Given the description of an element on the screen output the (x, y) to click on. 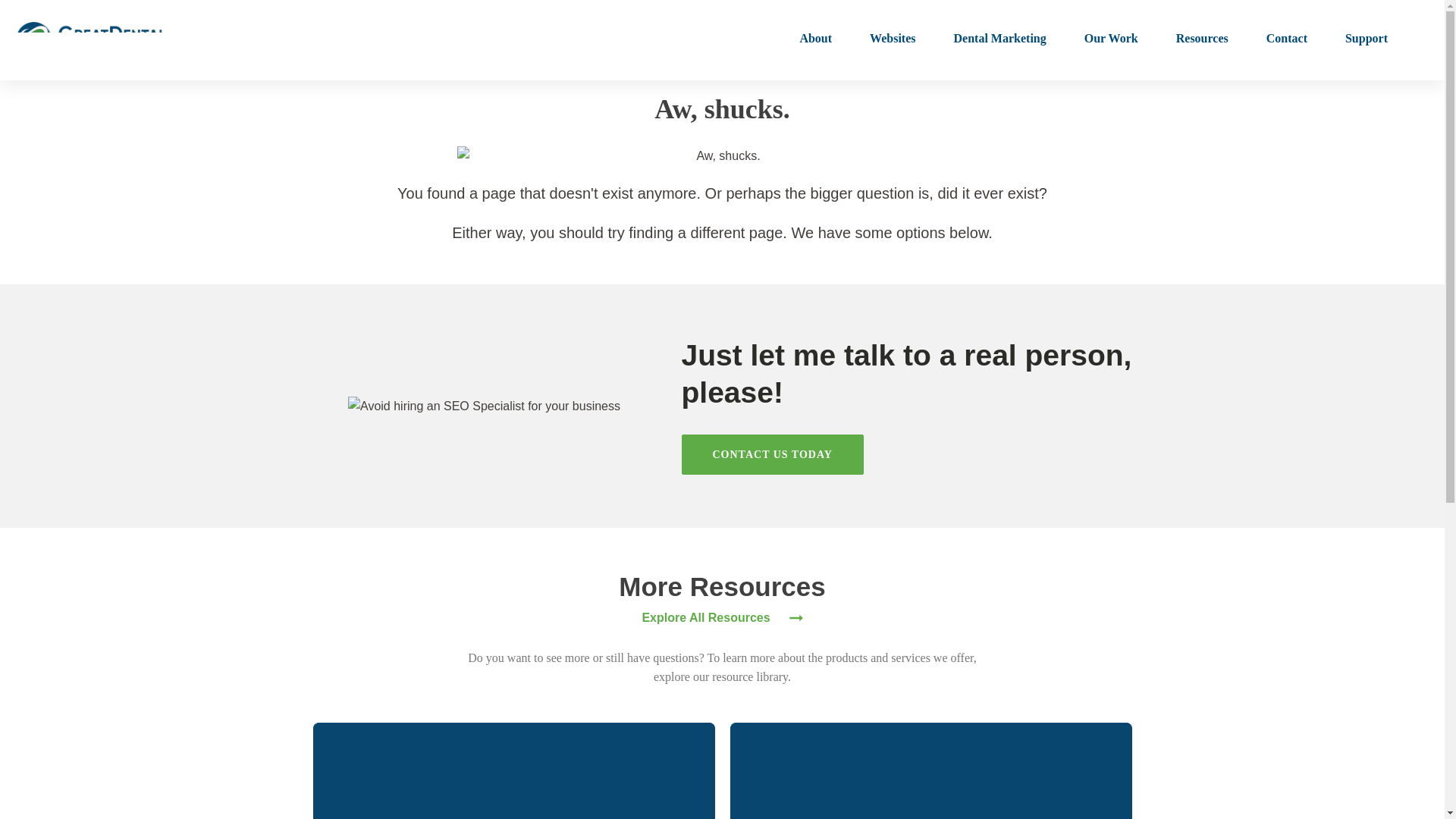
Support (1366, 39)
CONTACT US TODAY (772, 454)
About (815, 39)
Websites (892, 39)
Dental Marketing (999, 39)
Resources (1202, 39)
Contact (1286, 39)
Our Work (1111, 39)
